Given the description of an element on the screen output the (x, y) to click on. 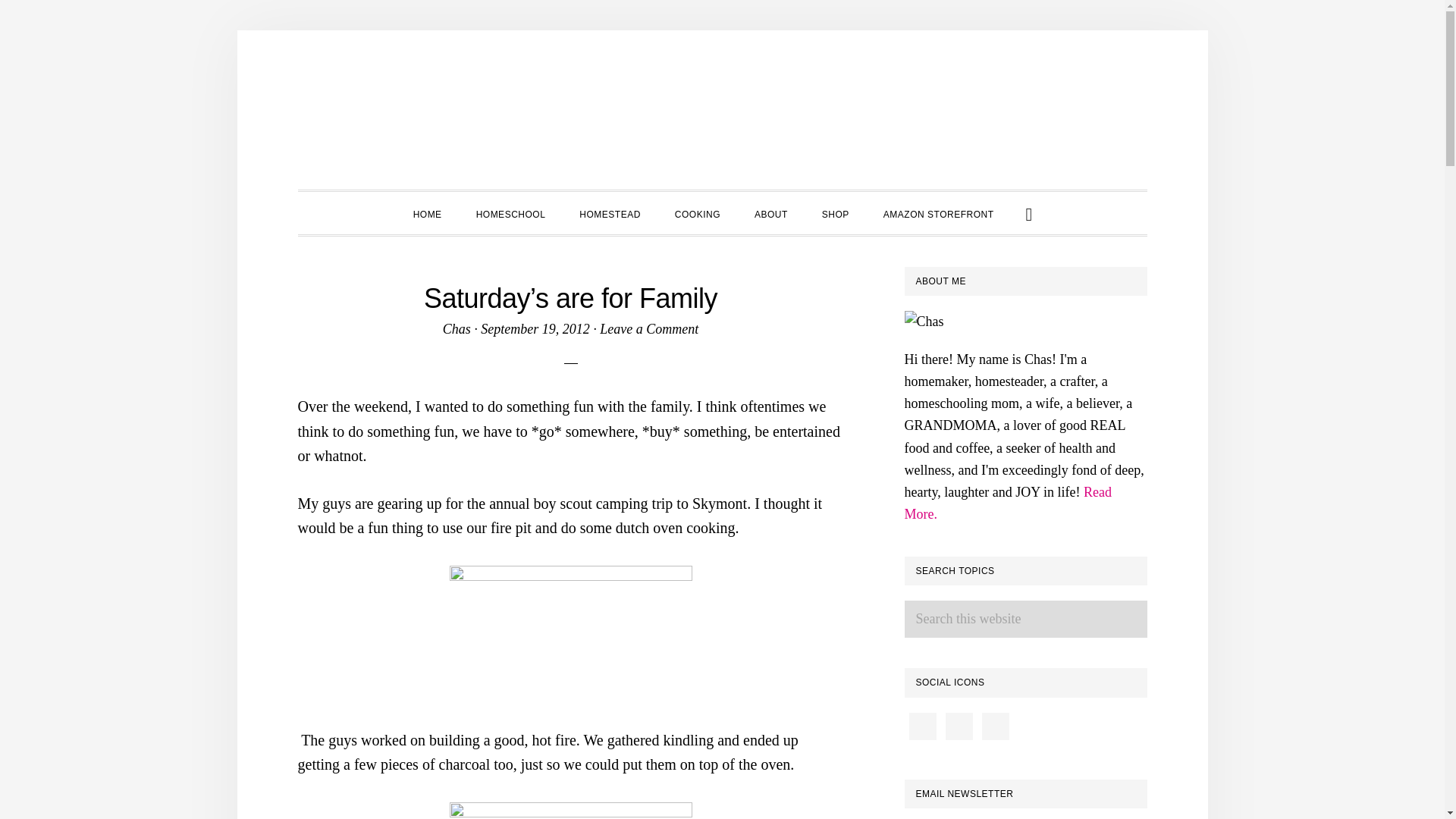
HOMESCHOOL (510, 212)
HOME (427, 212)
HERITAGE ACRES HOMESTEAD (721, 113)
Leave a Comment (648, 328)
HOMESTEAD (610, 212)
Chas (456, 328)
ABOUT (771, 212)
SHOP (835, 212)
